Given the description of an element on the screen output the (x, y) to click on. 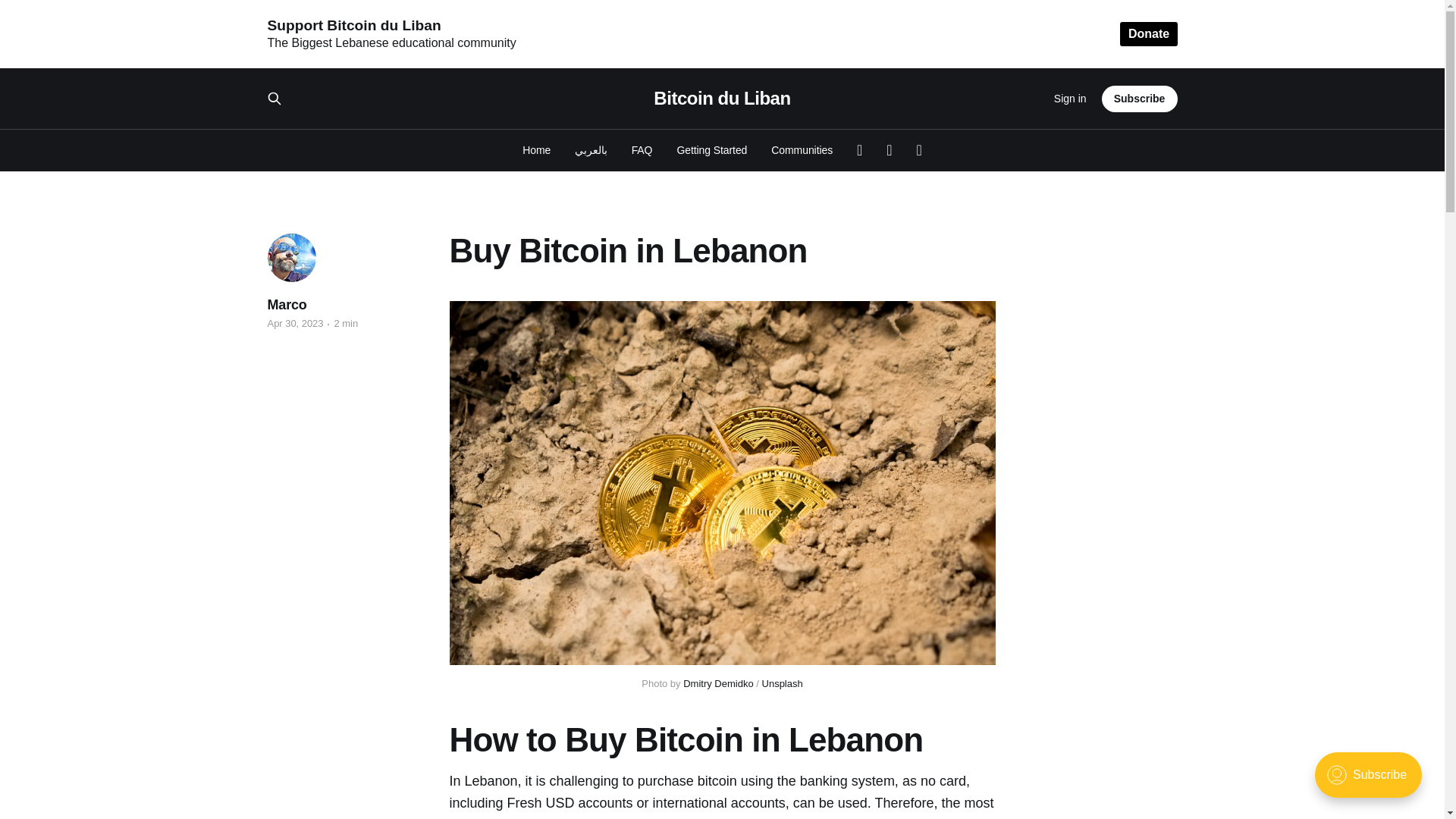
FAQ (641, 150)
Dmitry Demidko (717, 683)
Unsplash (782, 683)
Home (536, 150)
Sign in (1070, 98)
Communities (801, 150)
Subscribe (1139, 98)
Bitcoin du Liban (721, 98)
Getting Started (711, 150)
Marco (285, 304)
